Given the description of an element on the screen output the (x, y) to click on. 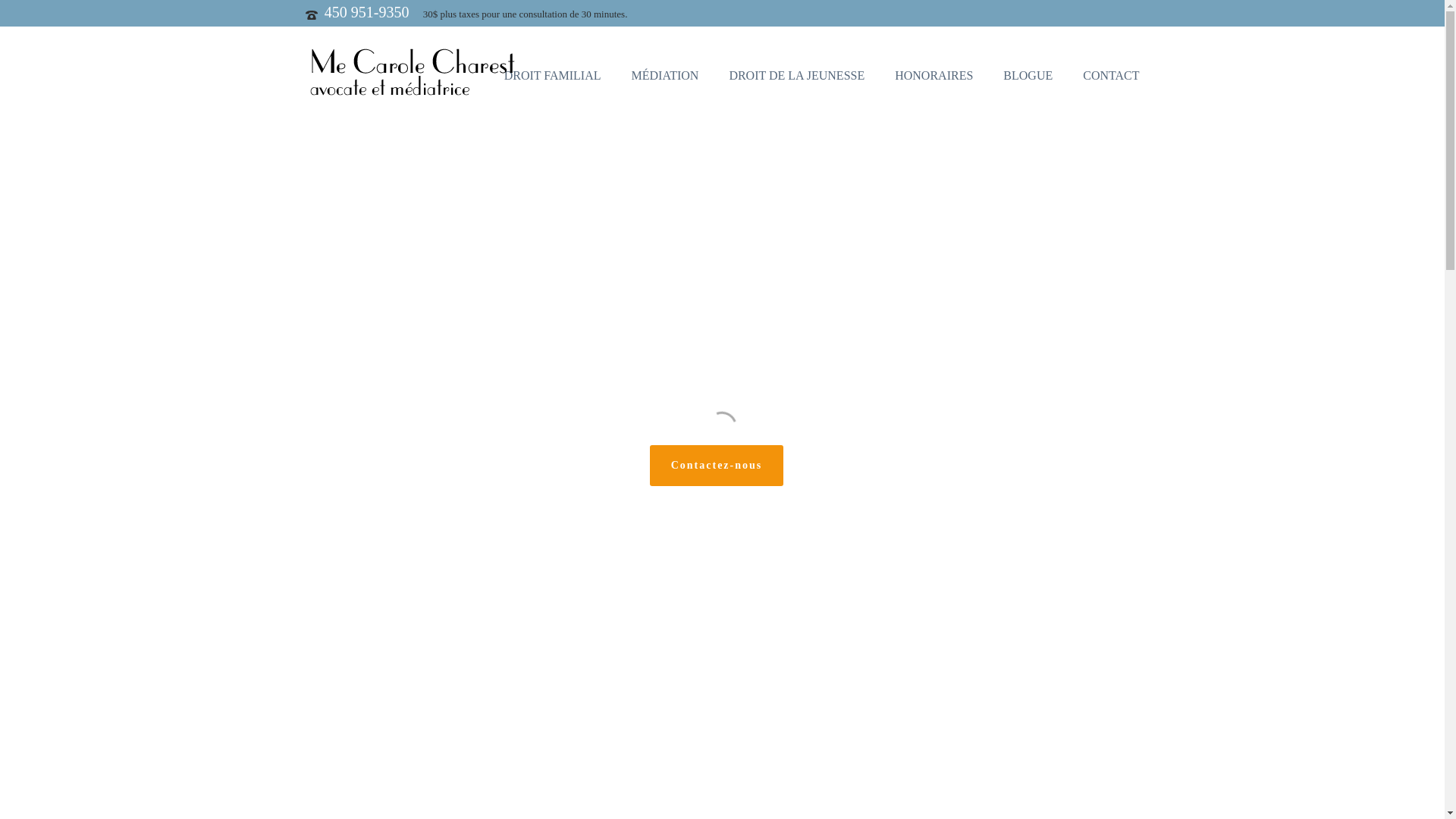
Honoraires Element type: text (776, 572)
BLOGUE Element type: text (1027, 71)
450 951-9350 Element type: text (414, 603)
Bois-des-Filion Element type: text (786, 655)
DROIT FAMILIAL Element type: text (552, 71)
450 951-9350 Element type: text (414, 511)
Configurer le consentement Element type: text (756, 797)
Contact Element type: text (765, 627)
HONORAIRES Element type: text (933, 71)
Droit de la jeunesse Element type: text (795, 544)
Contactez-nous Element type: text (716, 465)
Droit familial Element type: text (782, 489)
CONTACT Element type: text (1110, 71)
Laval Element type: text (765, 682)
Blogue Element type: text (768, 600)
DROIT DE LA JEUNESSE Element type: text (796, 71)
